Given the description of an element on the screen output the (x, y) to click on. 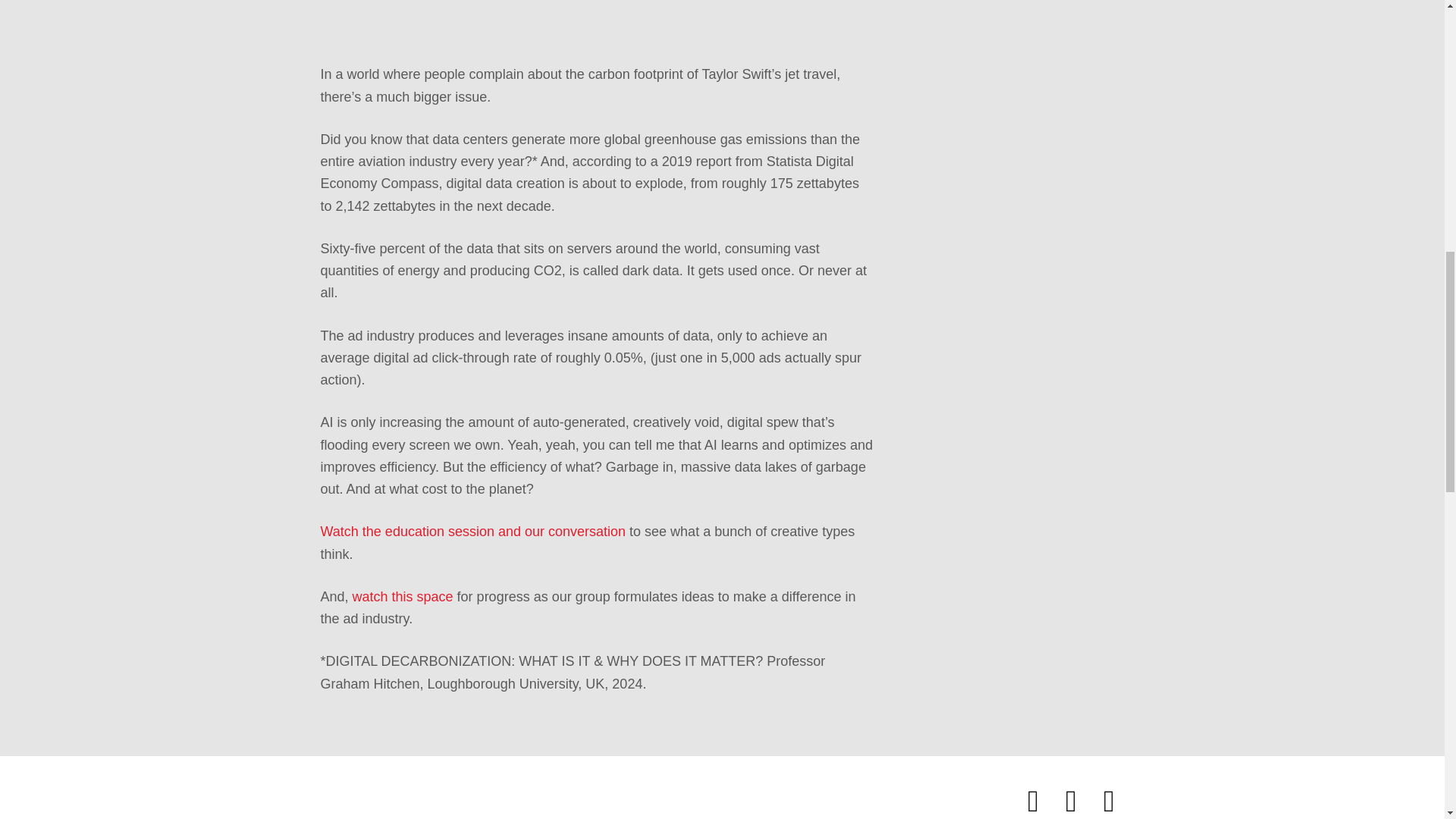
watch this space (402, 596)
Watch the education session and our conversation (473, 531)
